Given the description of an element on the screen output the (x, y) to click on. 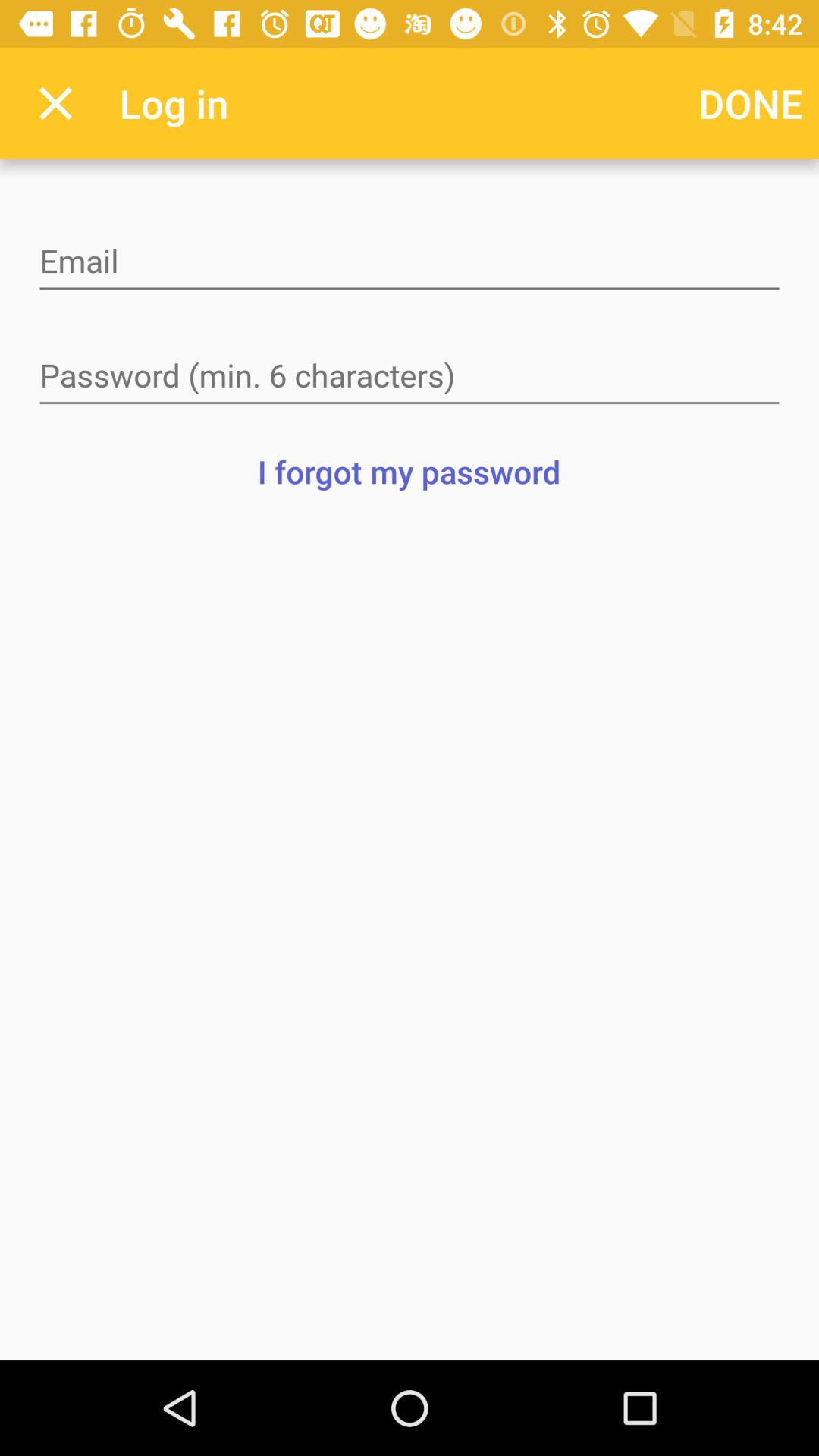
swipe until i forgot my item (408, 471)
